Given the description of an element on the screen output the (x, y) to click on. 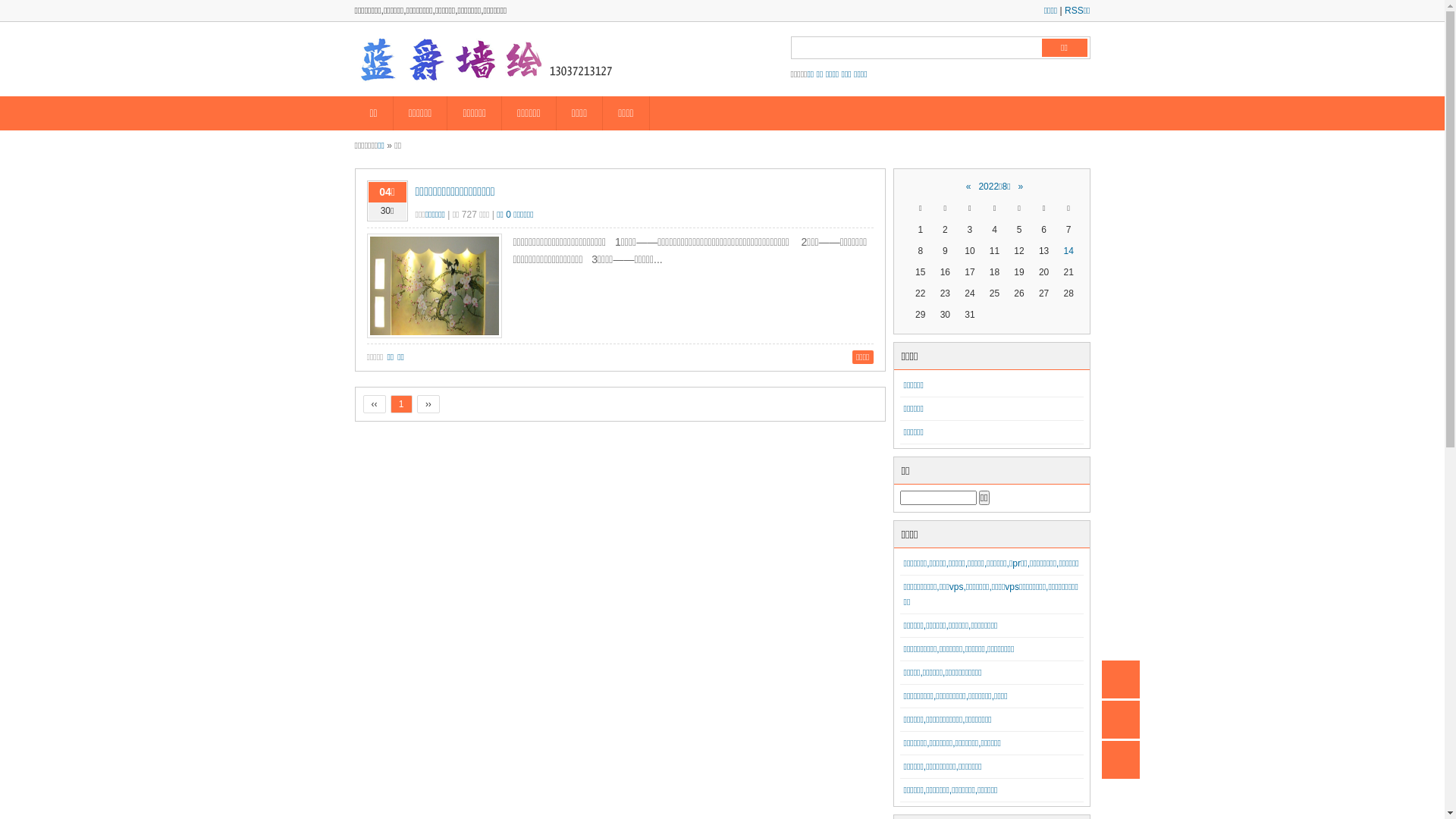
14 Element type: text (1068, 250)
